Given the description of an element on the screen output the (x, y) to click on. 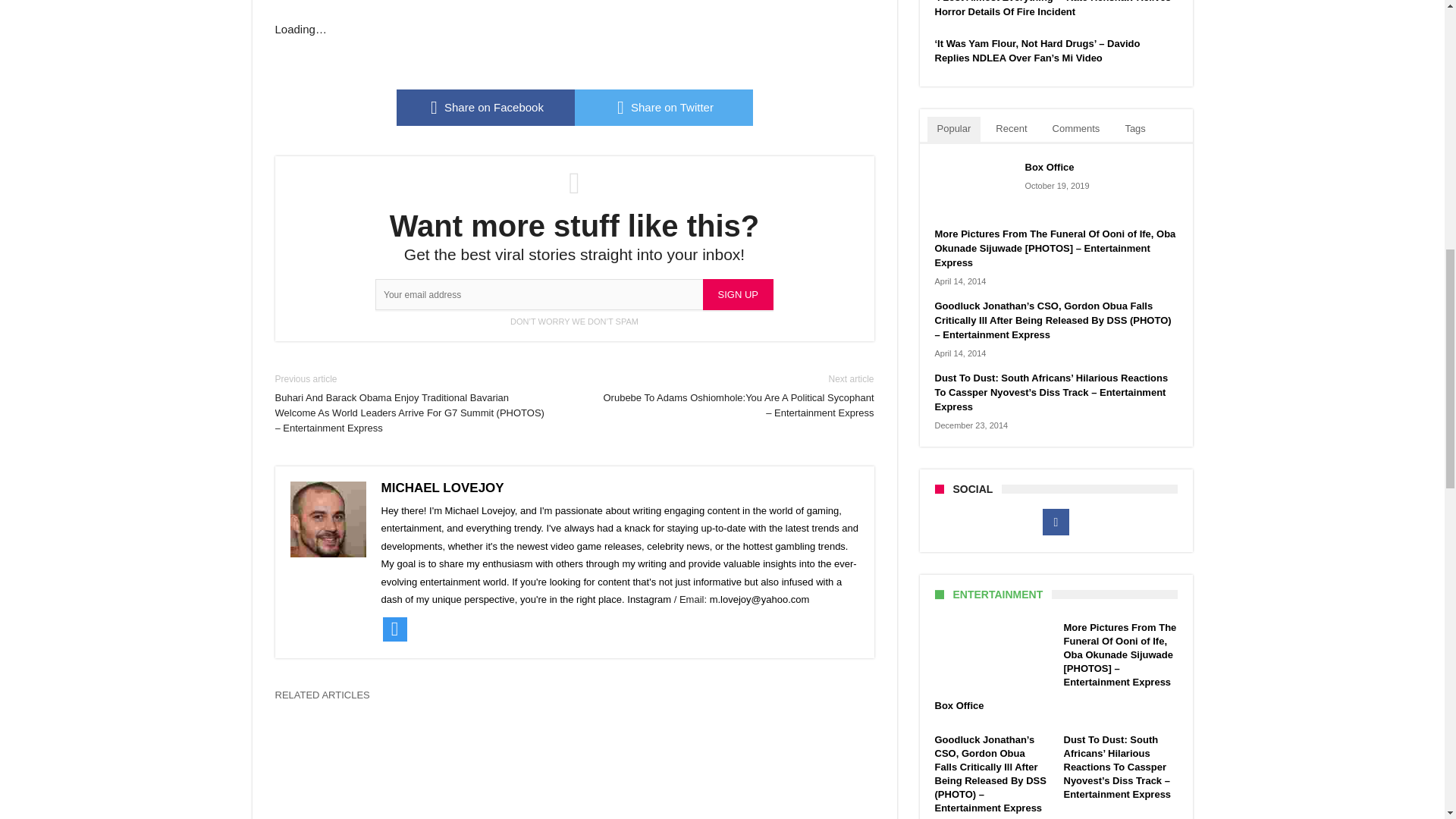
Facebook (1055, 522)
RELATED ARTICLES (327, 699)
MICHAEL LOVEJOY (441, 487)
twitter (663, 107)
Share on Facebook (484, 107)
Instagram (649, 599)
facebook (484, 107)
Share on Twitter (663, 107)
Sign up (738, 294)
Sign up (738, 294)
